Given the description of an element on the screen output the (x, y) to click on. 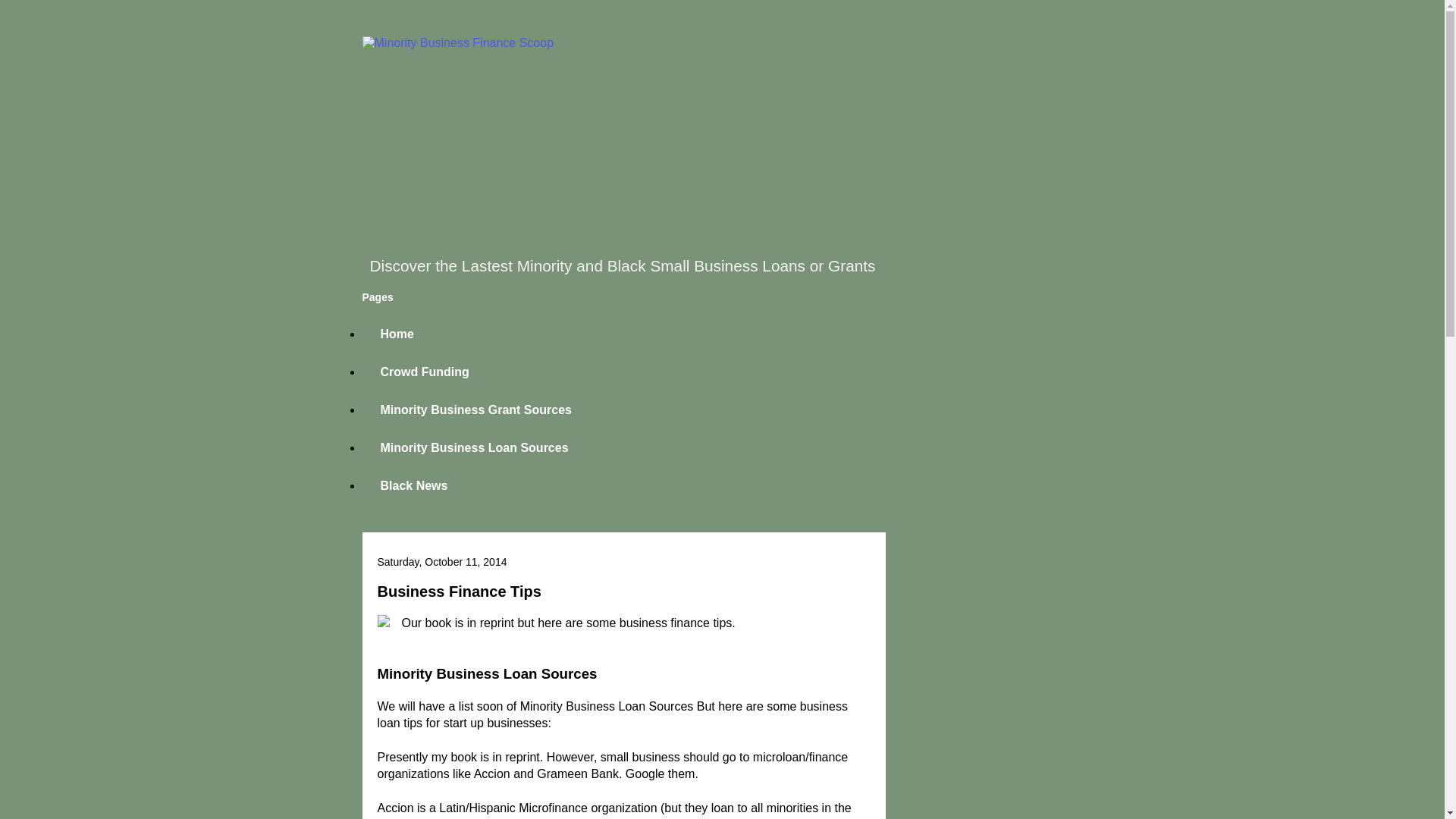
Home (397, 333)
Minority Business Loan Sources (474, 447)
Minority Business Grant Sources (476, 410)
Black News (413, 485)
Business Finance Tips (459, 591)
Crowd Funding (424, 371)
